Given the description of an element on the screen output the (x, y) to click on. 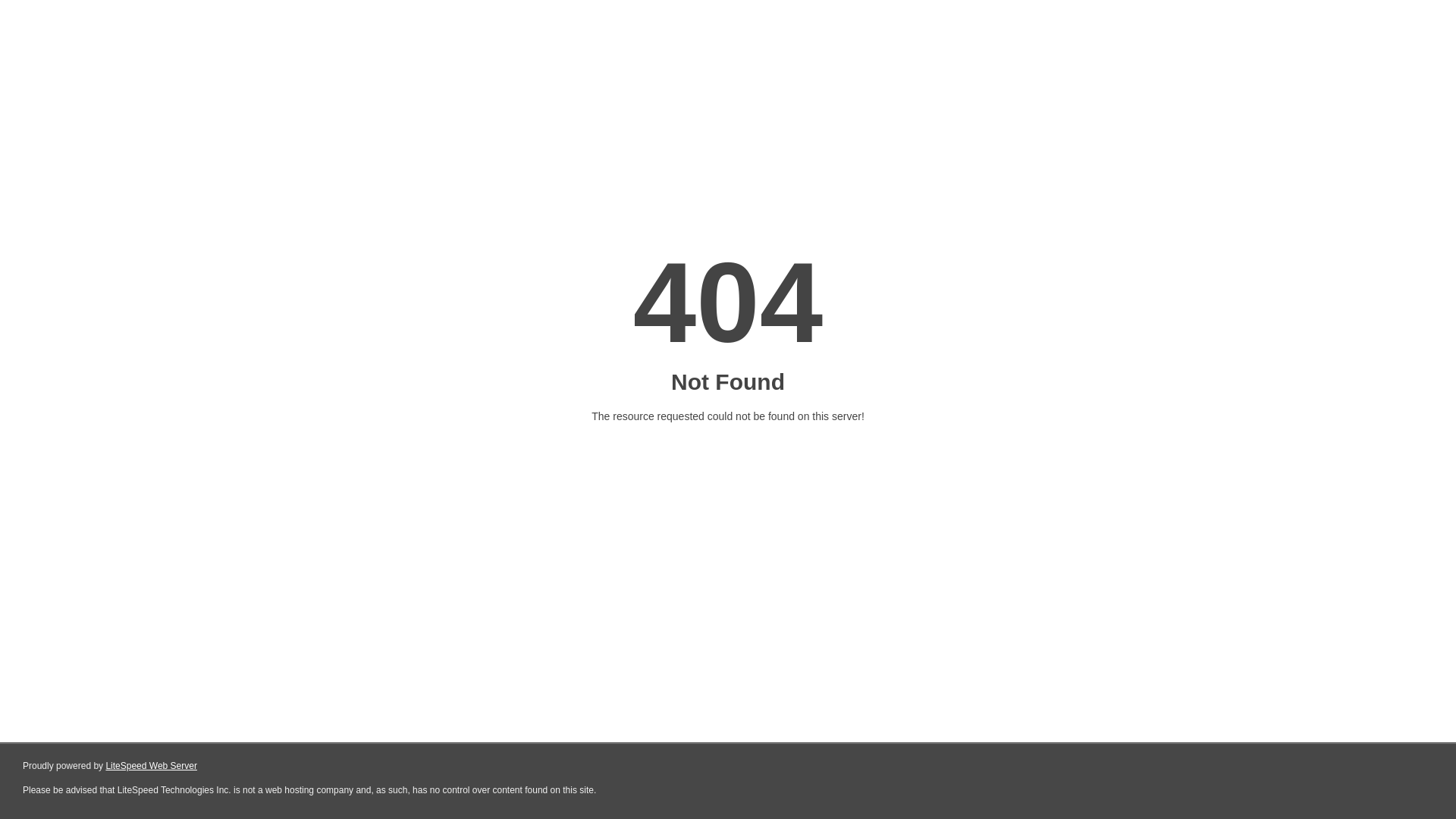
LiteSpeed Web Server Element type: text (151, 765)
